Given the description of an element on the screen output the (x, y) to click on. 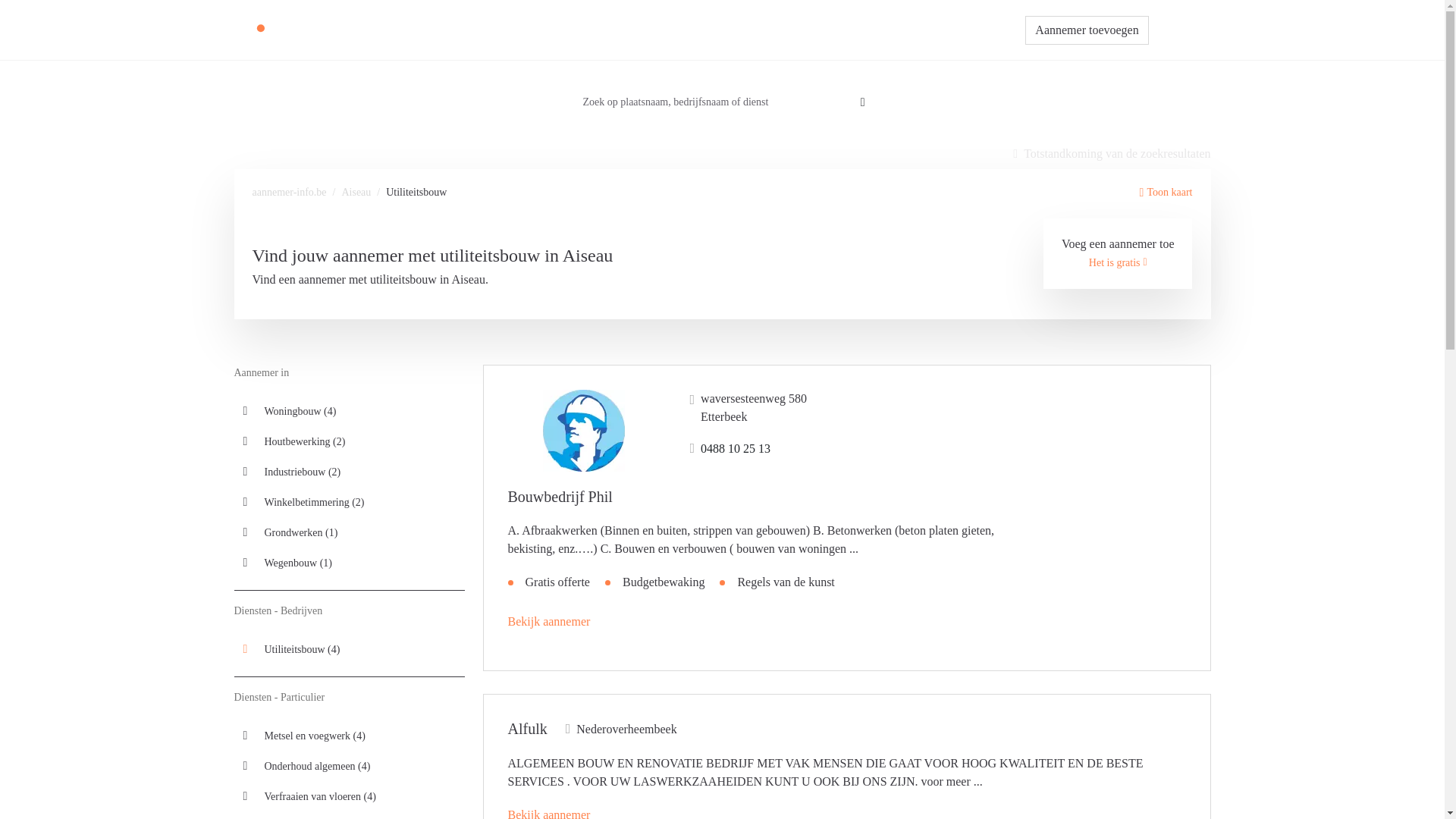
Bekijk aannemer Element type: text (549, 621)
Woningbouw (4) Element type: text (348, 410)
Aiseau Element type: text (355, 191)
Inloggen Element type: text (1179, 29)
aannemer-info.be Element type: text (288, 191)
Wegenbouw (1) Element type: text (348, 562)
Utiliteitsbouw (4) Element type: text (348, 648)
Aannemer toevoegen Element type: text (1086, 29)
Industriebouw (2) Element type: text (348, 471)
Totstandkoming van de zoekresultaten Element type: text (1111, 153)
Winkelbetimmering (2) Element type: text (348, 501)
0488 10 25 13 Element type: text (730, 448)
Houtbewerking (2) Element type: text (348, 441)
Toon kaart Element type: text (1165, 192)
Vraagbaak Element type: text (770, 29)
Aannemer zoeken Element type: text (683, 29)
Alfulk Element type: text (527, 728)
Het is gratis Element type: text (1117, 262)
Verfraaien van vloeren (4) Element type: text (348, 796)
Metsel en voegwerk (4) Element type: text (348, 735)
Grondwerken (1) Element type: text (348, 532)
Onderhoud algemeen (4) Element type: text (348, 765)
Bouwbedrijf Phil Element type: text (560, 496)
